Given the description of an element on the screen output the (x, y) to click on. 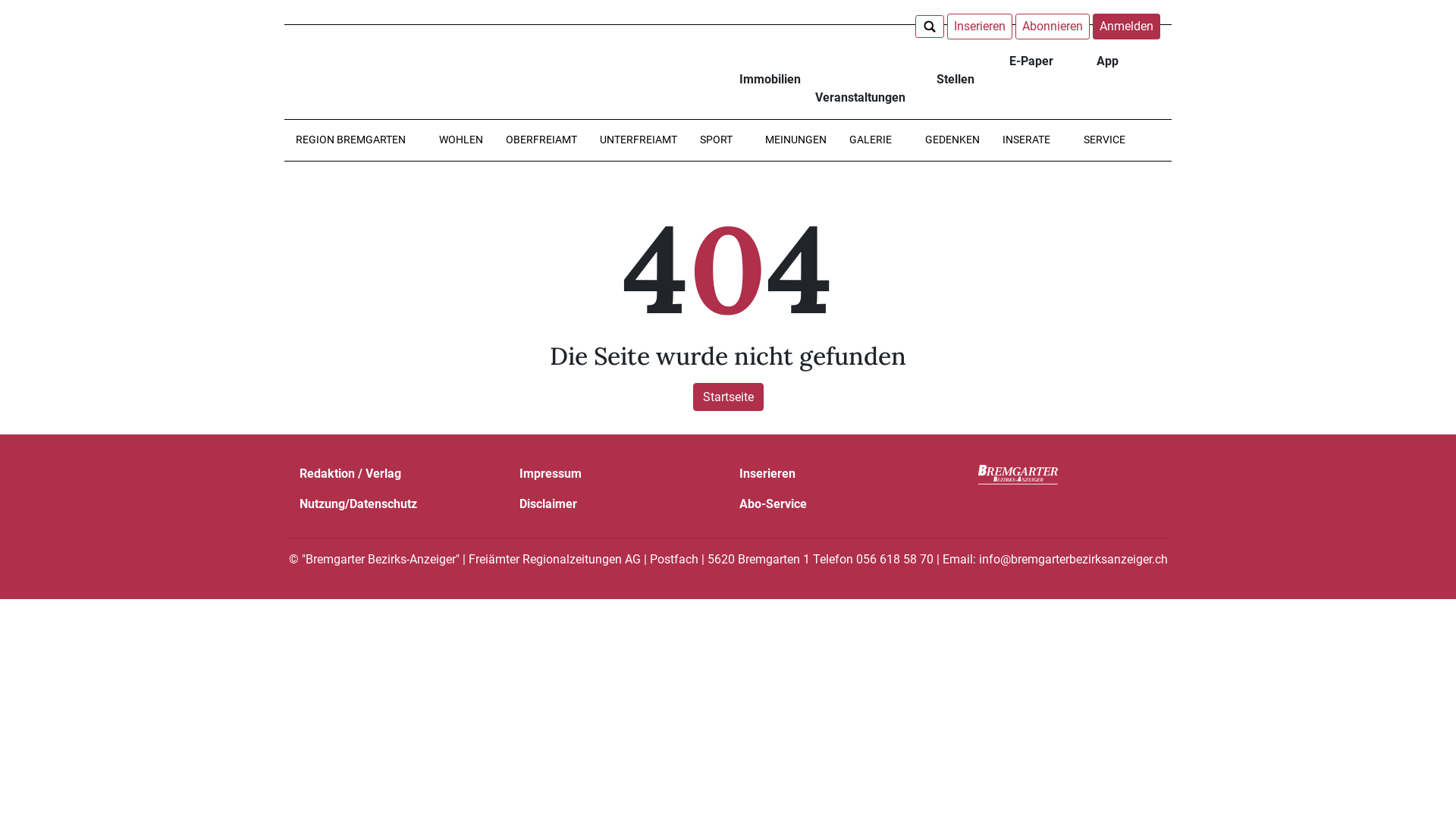
E-Paper Element type: text (1030, 61)
Startseite Element type: text (728, 396)
Immobilien Element type: text (765, 70)
SPORT Element type: text (721, 139)
Anmelden Element type: text (1126, 26)
Inserieren Element type: text (767, 473)
GALERIE Element type: text (875, 139)
Stellen Element type: text (955, 70)
REGION BREMGARTEN Element type: text (355, 139)
Abo-Service Element type: text (772, 503)
Veranstaltungen Element type: text (863, 85)
UNTERFREIAMT Element type: text (638, 139)
Nutzung/Datenschutz Element type: text (358, 503)
GEDENKEN Element type: text (952, 139)
Impressum Element type: text (550, 473)
Inserieren Element type: text (979, 26)
App Element type: text (1106, 61)
MEINUNGEN Element type: text (795, 139)
SERVICE Element type: text (1109, 139)
Disclaimer Element type: text (548, 503)
WOHLEN Element type: text (460, 139)
OBERFREIAMT Element type: text (541, 139)
INSERATE Element type: text (1031, 139)
Abonnieren Element type: text (1052, 26)
Redaktion / Verlag Element type: text (350, 473)
